Given the description of an element on the screen output the (x, y) to click on. 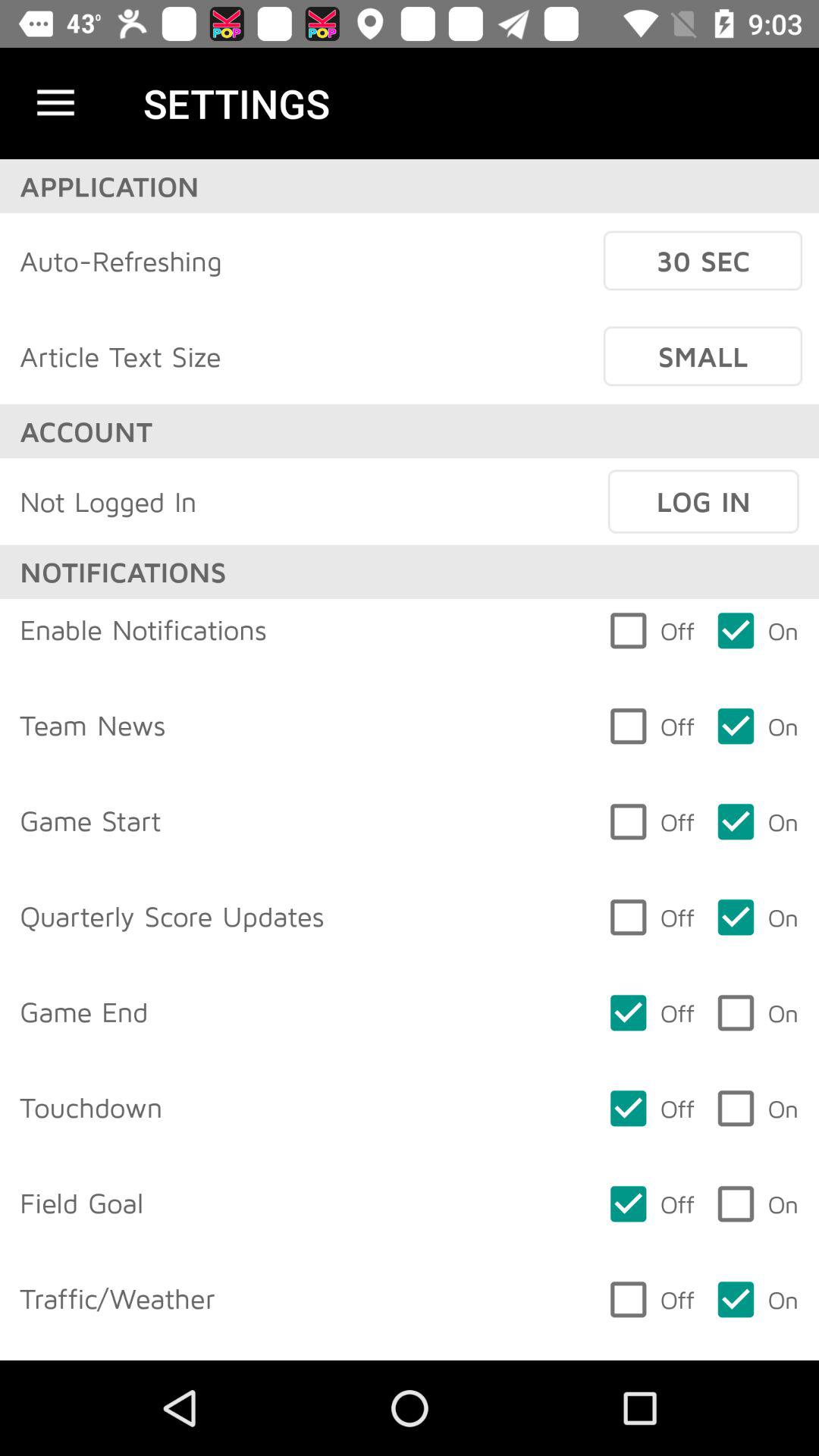
turn off icon to the right of not logged in item (703, 501)
